Given the description of an element on the screen output the (x, y) to click on. 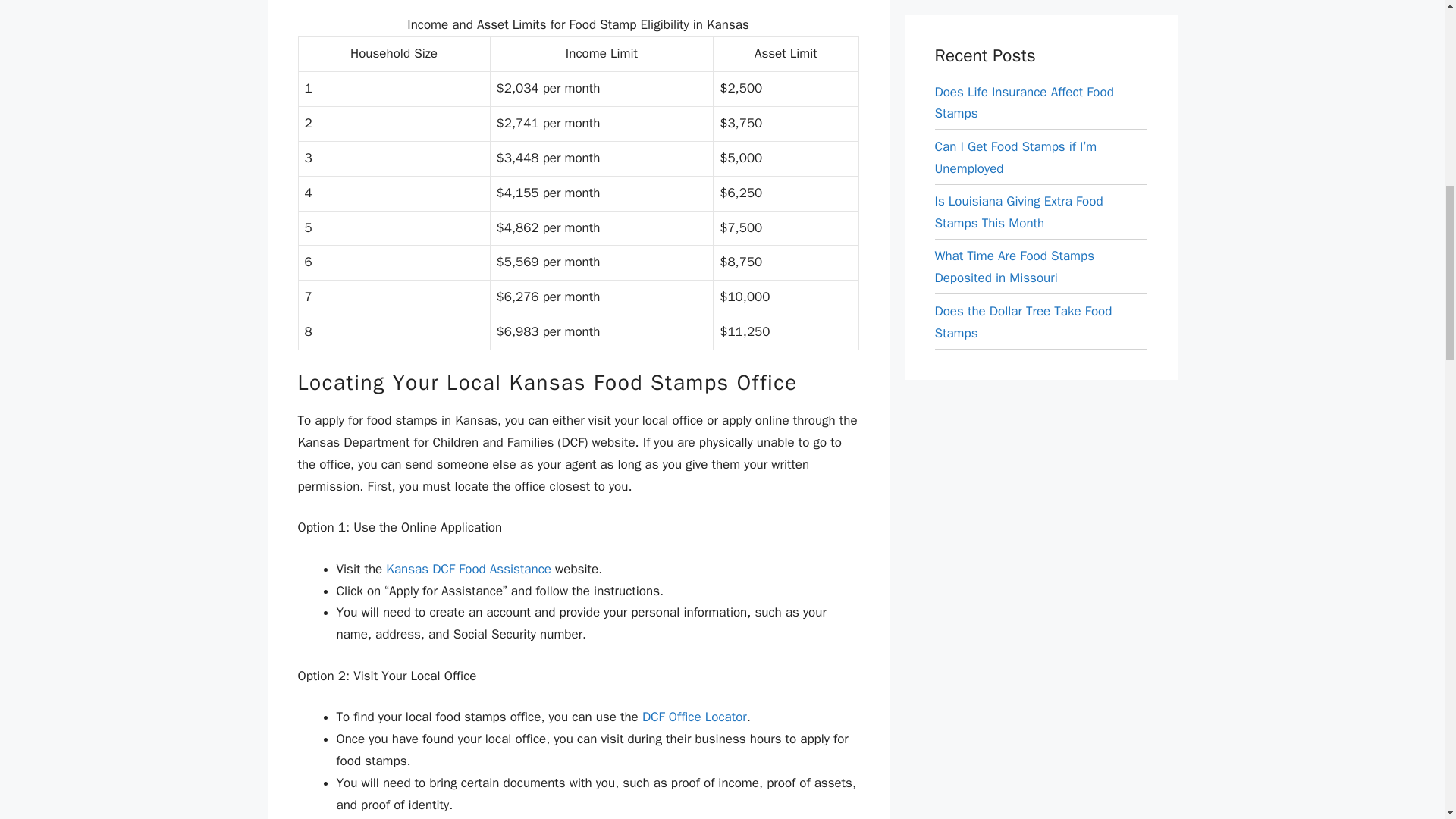
Kansas DCF Food Assistance (468, 569)
DCF Office Locator (694, 716)
